Given the description of an element on the screen output the (x, y) to click on. 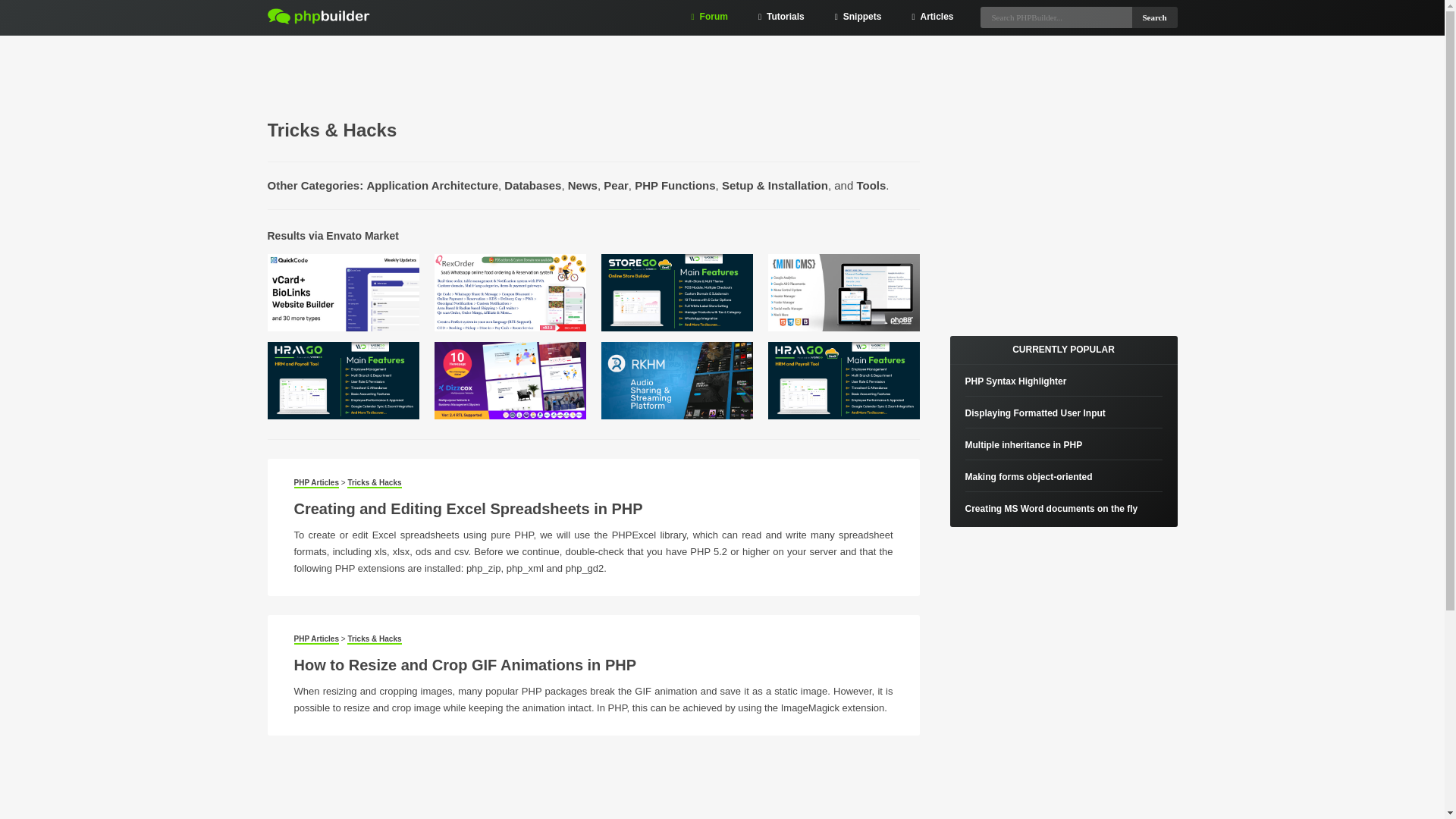
Forum (709, 17)
Creating and Editing Excel Spreadsheets in PHP (468, 508)
Pear (616, 185)
PHP Articles (316, 639)
Articles (932, 17)
News (581, 185)
Snippets (857, 17)
Tutorials (780, 17)
Advertisement (1062, 212)
Search (1153, 16)
